Given the description of an element on the screen output the (x, y) to click on. 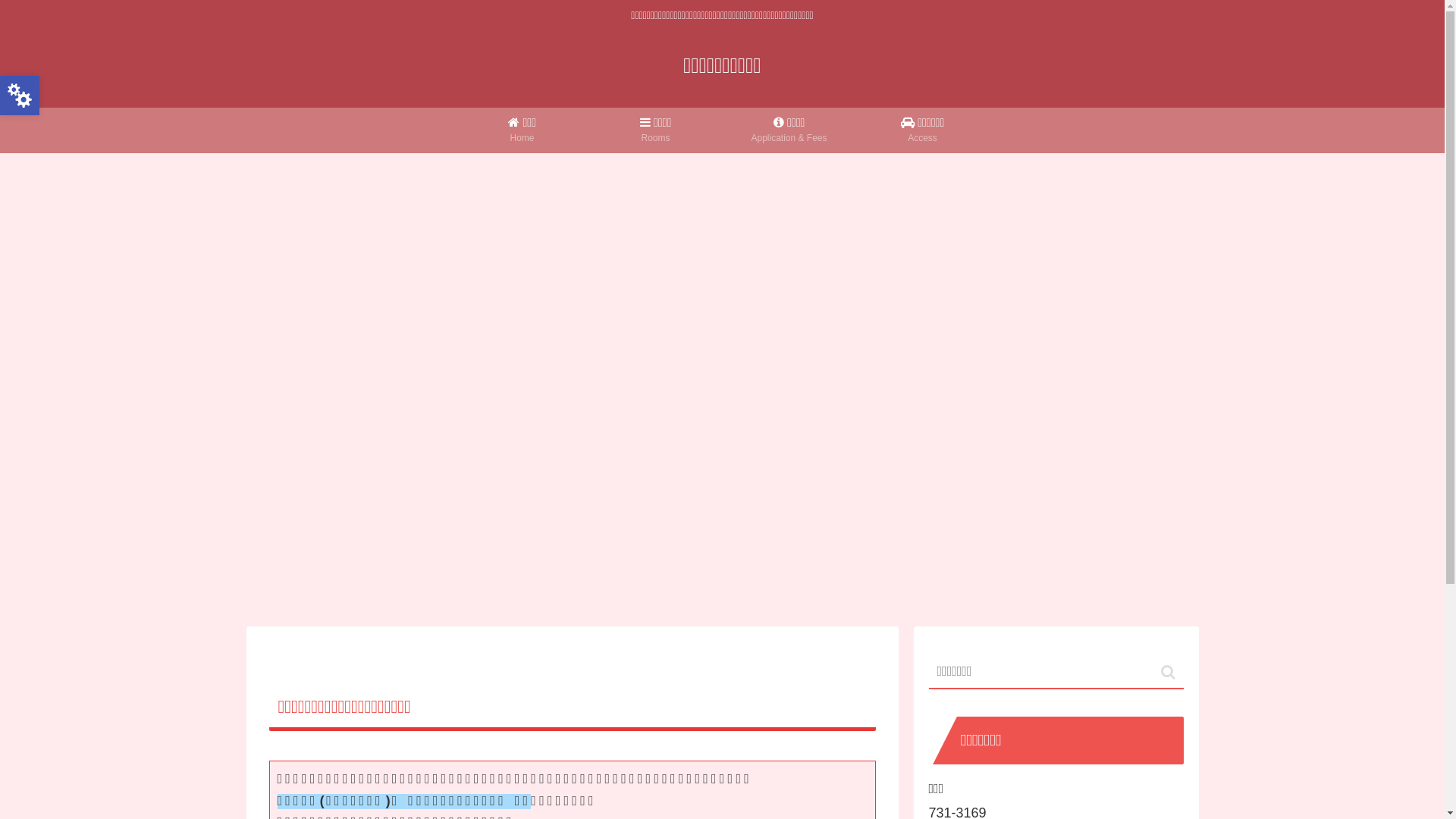
Open toolbar Element type: text (19, 95)
